Given the description of an element on the screen output the (x, y) to click on. 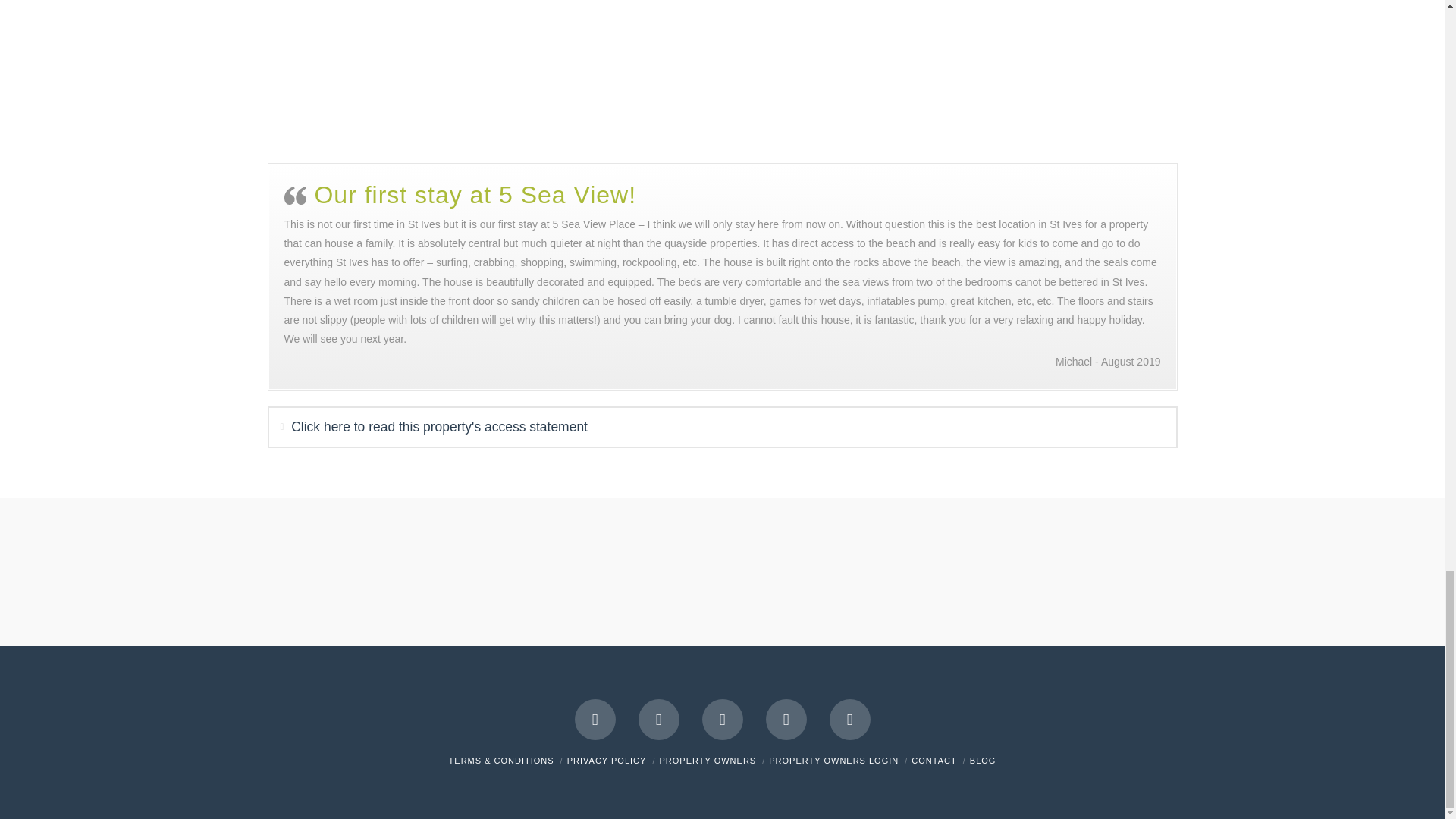
YouTube (721, 719)
Instagram (785, 719)
Twitter (659, 719)
Pinterest (849, 719)
Facebook (595, 719)
